Given the description of an element on the screen output the (x, y) to click on. 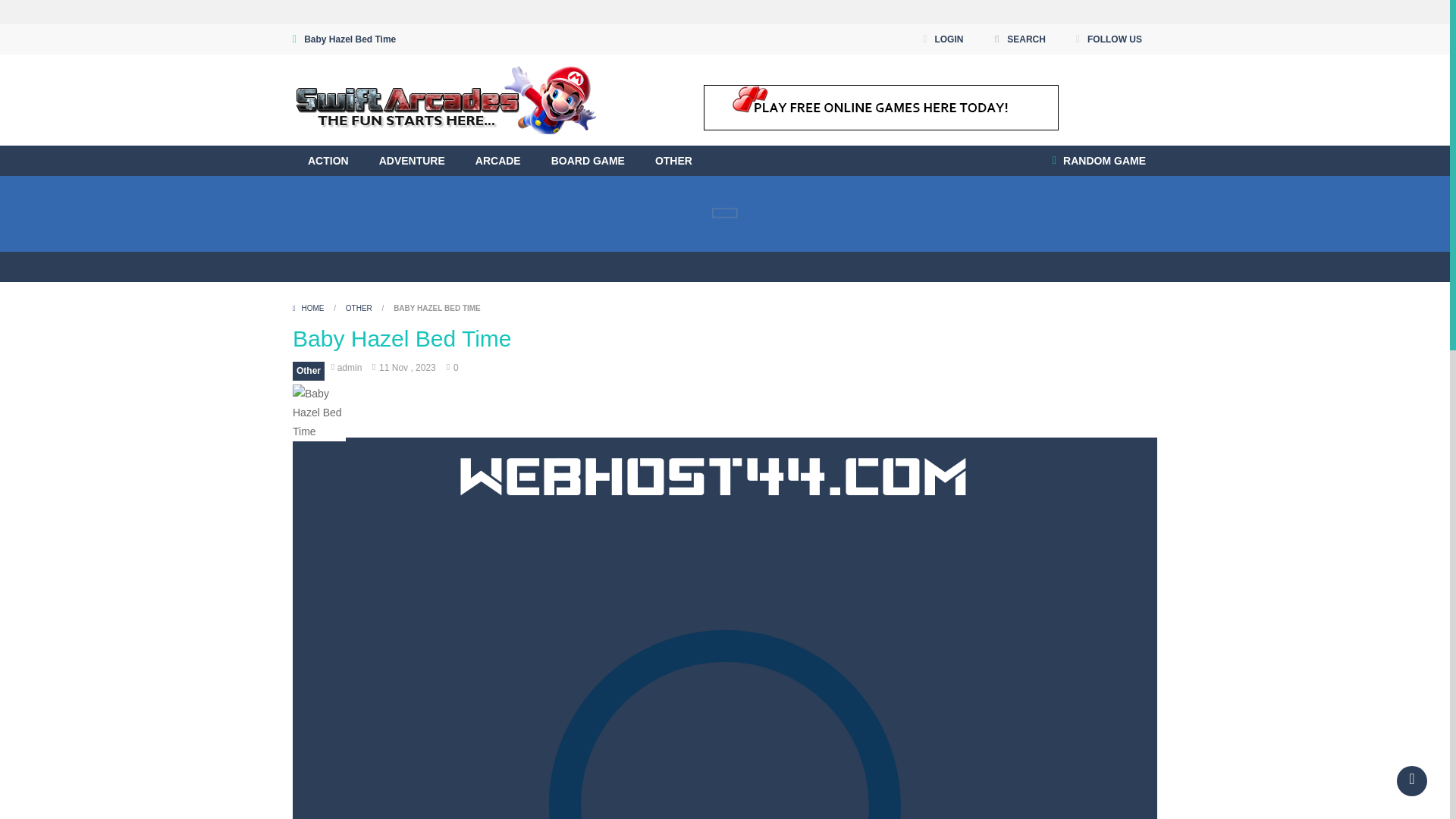
OTHER (673, 160)
Play a random game! (1099, 160)
RANDOM GAME (1099, 160)
SEARCH (1019, 39)
FOLLOW US (1108, 39)
Free Online Games (443, 100)
ARCADE (497, 160)
LOGIN (942, 39)
ADVENTURE (412, 160)
Free Online Games (443, 99)
BOARD GAME (587, 160)
ACTION (328, 160)
